Given the description of an element on the screen output the (x, y) to click on. 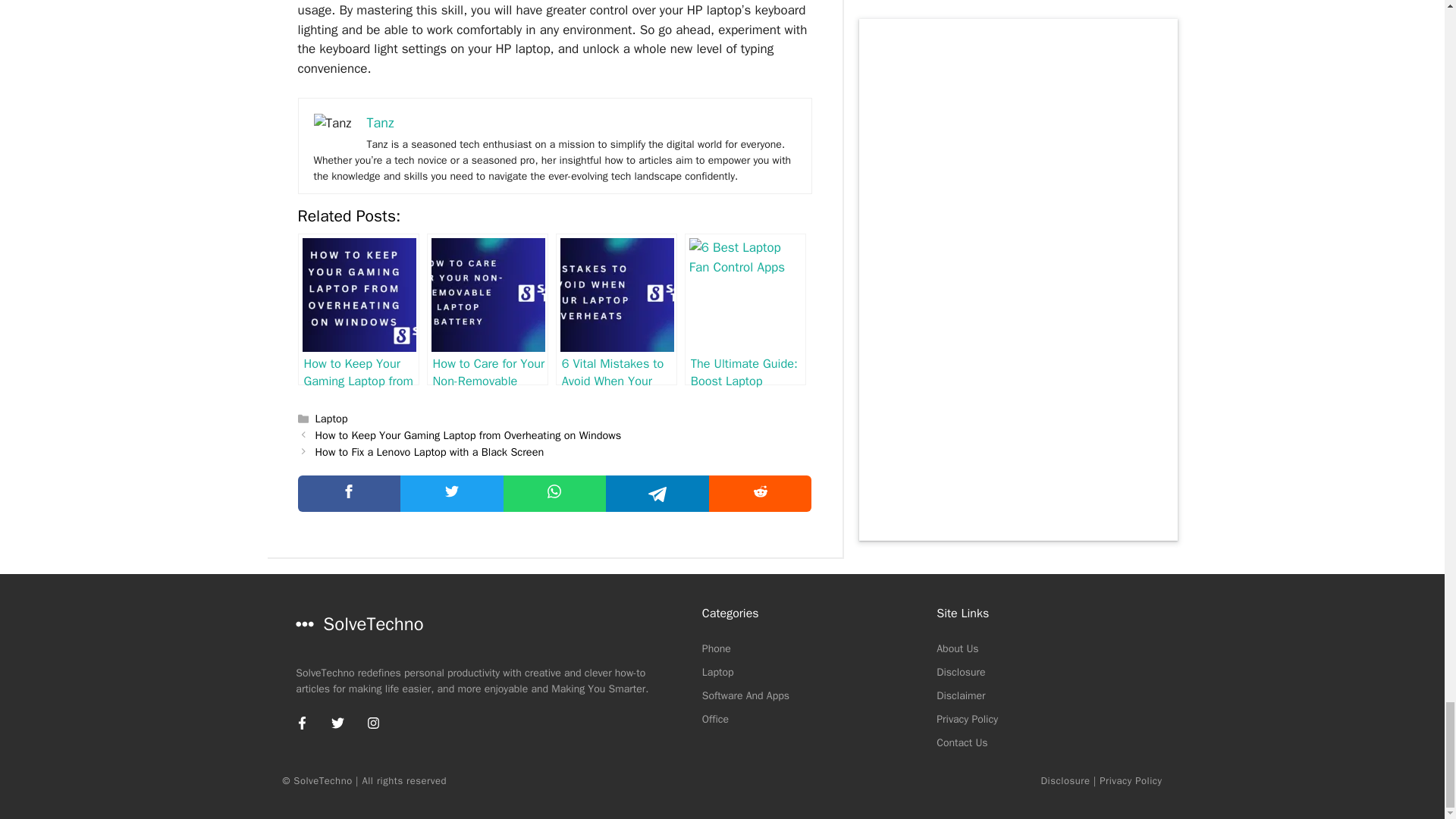
6 Vital Mistakes to Avoid When Your Laptop Overheats 5 (617, 295)
Laptop (331, 418)
Tanz (379, 122)
How to Fix a Lenovo Laptop with a Black Screen (429, 451)
Illuminate Your HP Laptop Keyboard Light Control 2 (333, 123)
How to Keep Your Gaming Laptop from Overheating on Windows (468, 435)
How to Keep Your Gaming Laptop from Overheating on Windows 3 (357, 295)
